Given the description of an element on the screen output the (x, y) to click on. 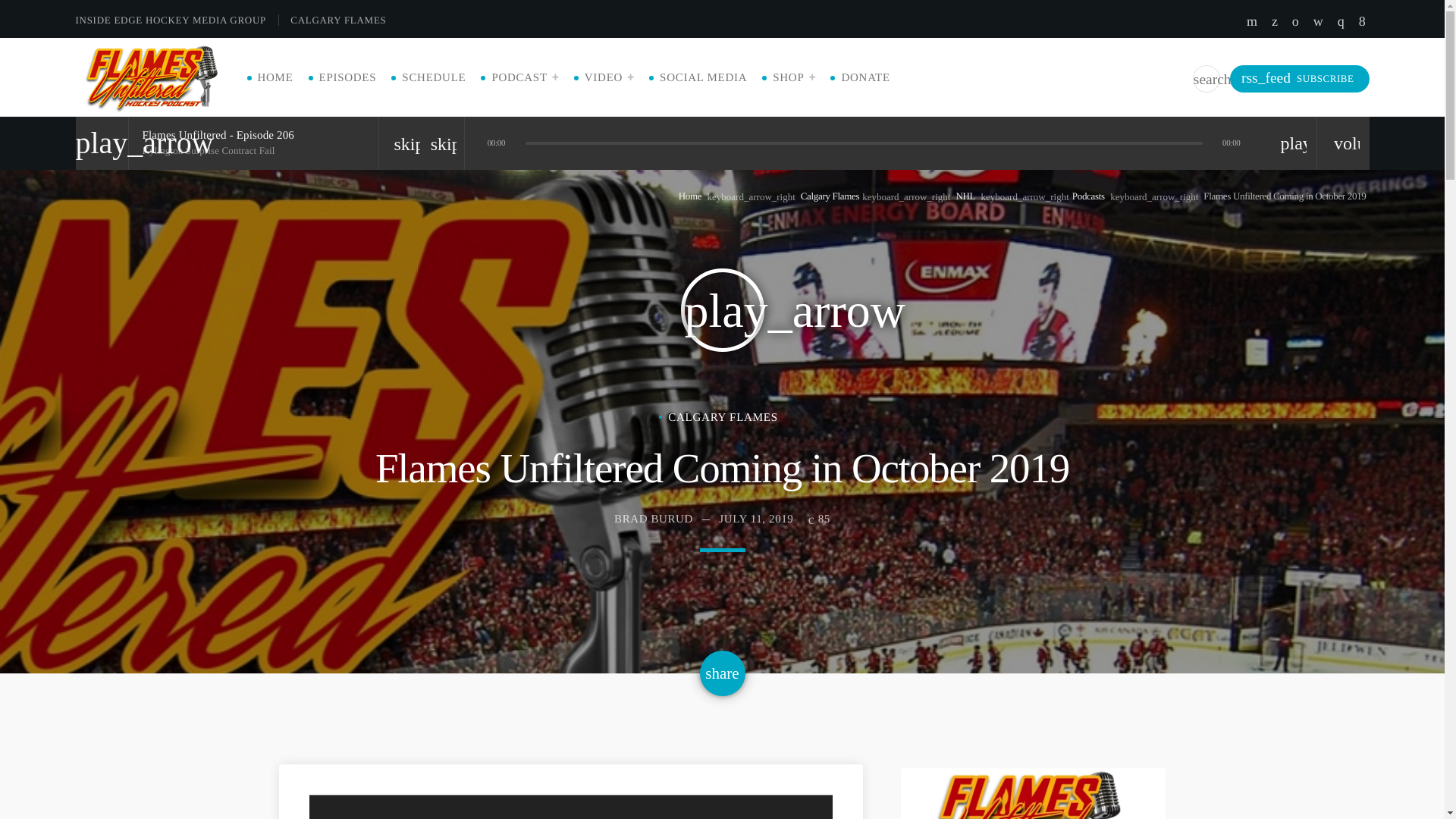
SHOP (794, 77)
PODCAST (524, 77)
INSIDE EDGE HOCKEY MEDIA GROUP (177, 19)
CALGARY FLAMES (343, 19)
VIDEO (609, 77)
DONATE (865, 77)
EPISODES (347, 77)
SCHEDULE (433, 77)
HOME (275, 77)
SOCIAL MEDIA (702, 77)
